Given the description of an element on the screen output the (x, y) to click on. 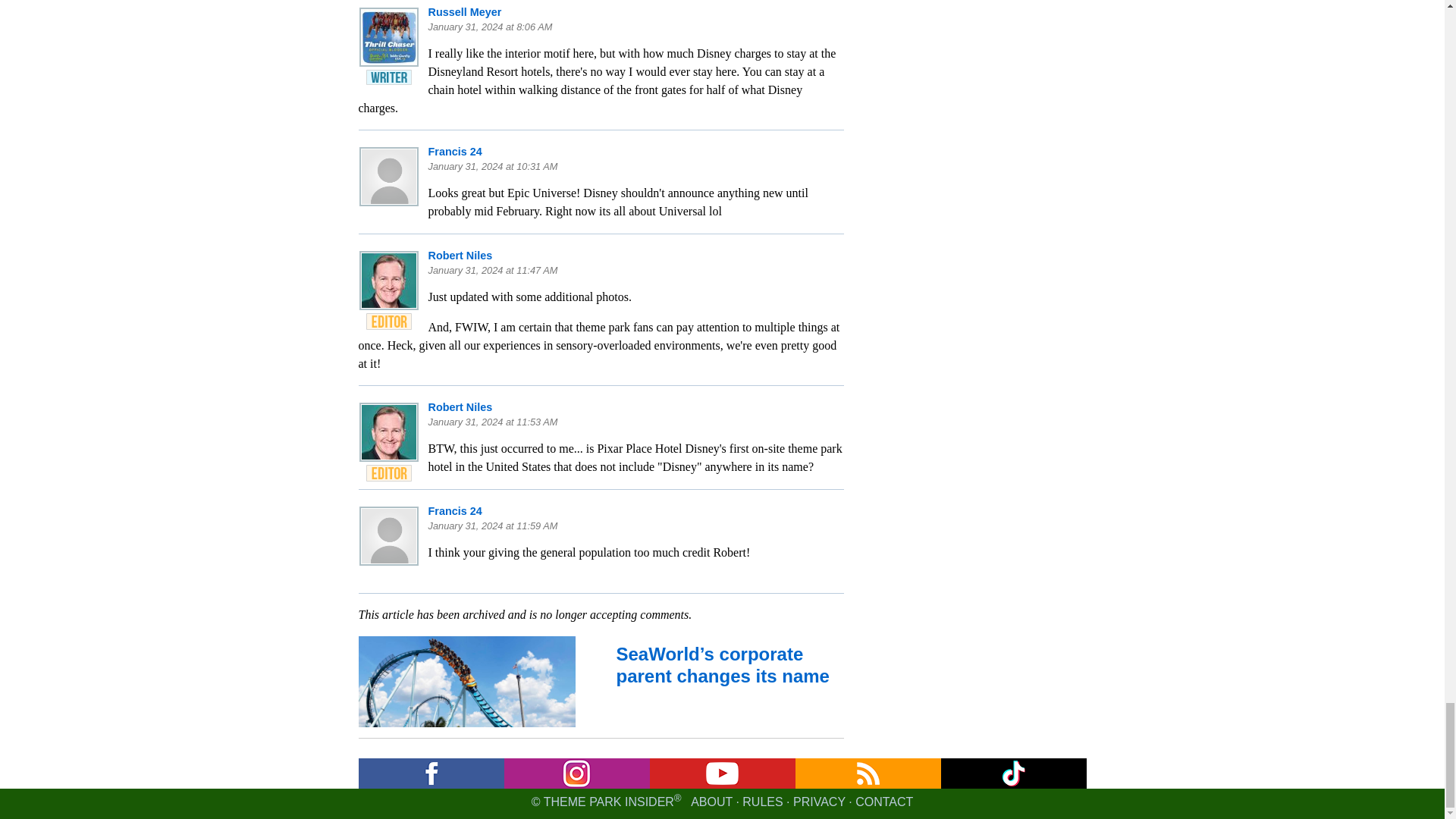
RSS (867, 773)
Robert Niles (460, 255)
Twitter (1012, 773)
YouTube (721, 773)
Francis 24 (454, 510)
Russell Meyer (464, 11)
Francis 24 (454, 151)
Facebook (430, 773)
Newsletter (576, 773)
Robert Niles (460, 407)
